Given the description of an element on the screen output the (x, y) to click on. 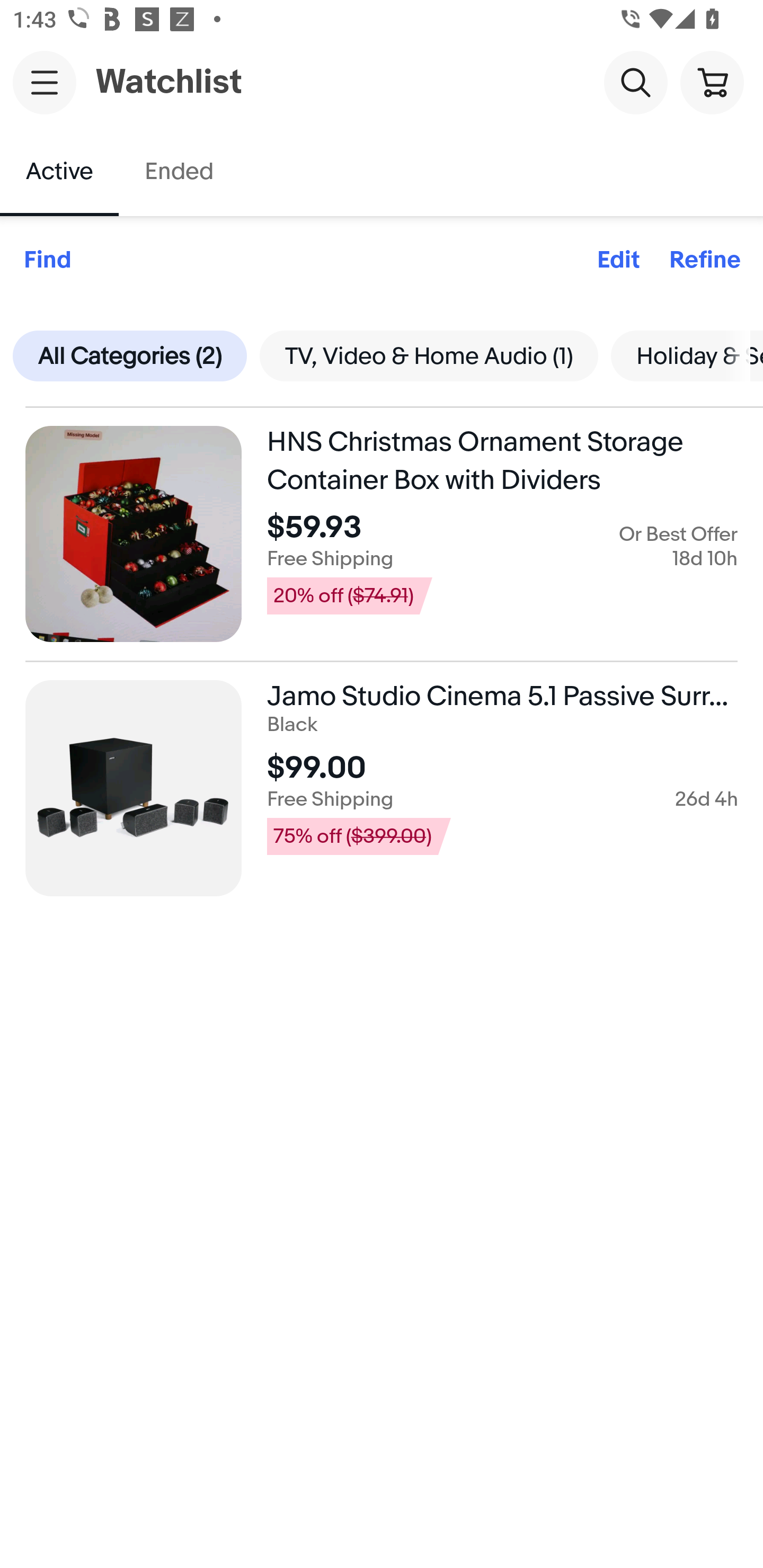
Main navigation, open (44, 82)
Search (635, 81)
Cart button shopping cart (711, 81)
Ended (178, 171)
Find Find in list (47, 260)
Edit Edit list (617, 260)
Refine Refine list (704, 260)
All Categories (2) (129, 355)
TV, Video & Home Audio (1) (428, 355)
